Given the description of an element on the screen output the (x, y) to click on. 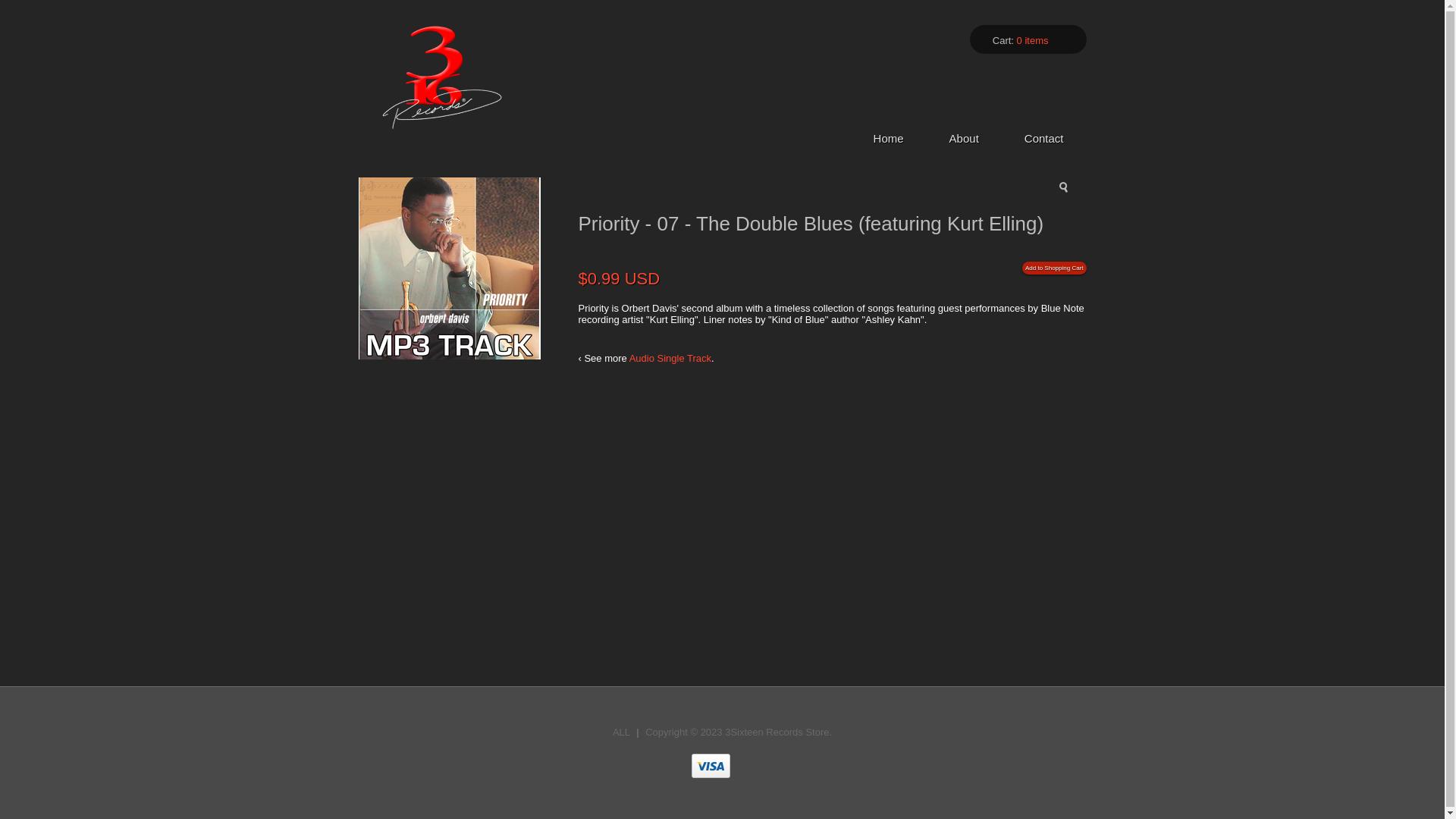
Home Element type: text (888, 137)
Add to Shopping Cart Element type: text (1054, 267)
Contact Element type: text (1043, 137)
ALL Element type: text (621, 731)
Audio Single Track Element type: text (670, 358)
About Element type: text (964, 137)
0 items Element type: text (1032, 40)
